Given the description of an element on the screen output the (x, y) to click on. 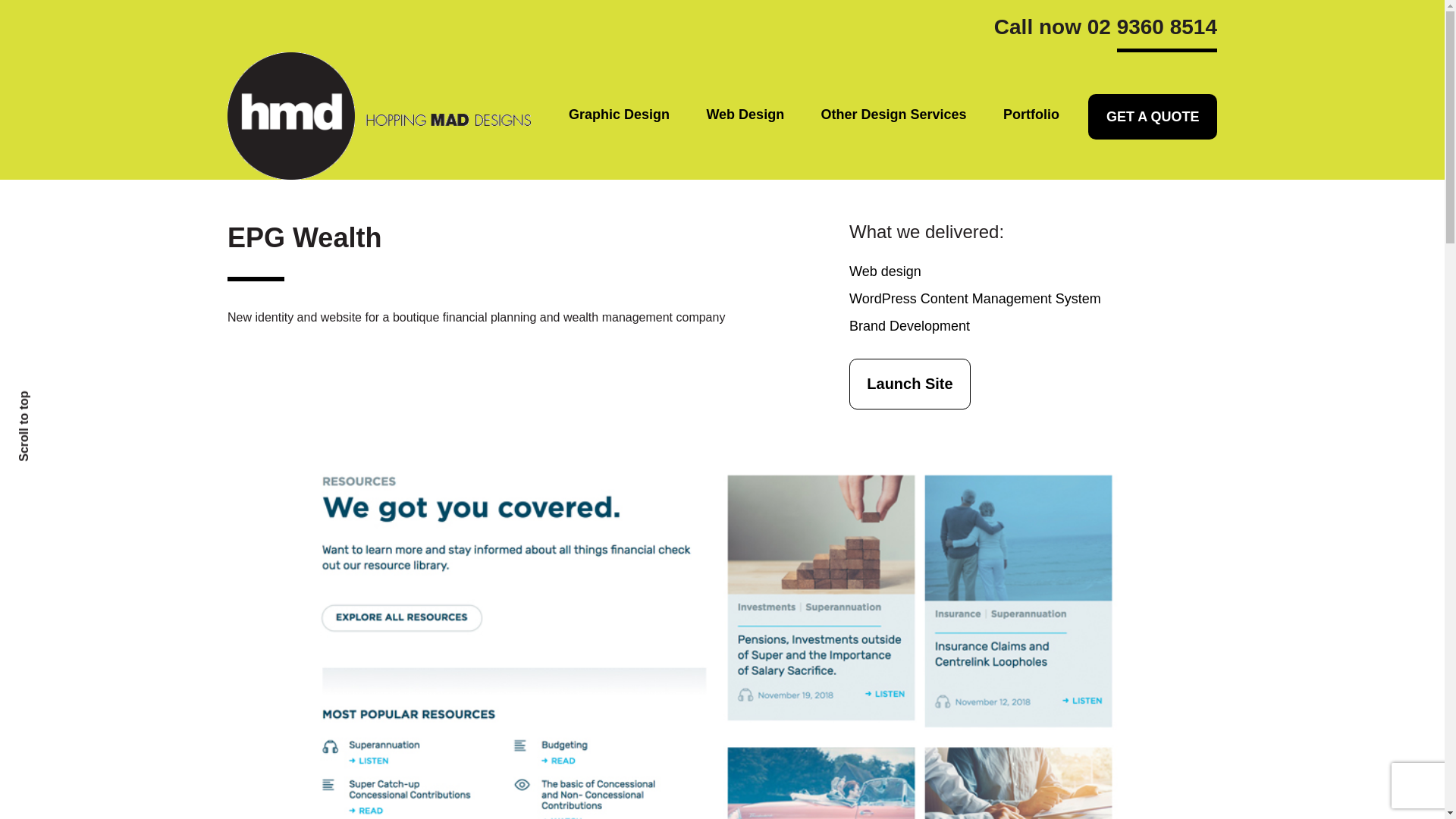
Launch Site (909, 383)
Web design (884, 271)
Graphic Design (619, 114)
Web Design (745, 114)
Submit (345, 619)
Brand Development (908, 325)
Portfolio (1031, 114)
WordPress Content Management System (974, 298)
Call now 02 9360 8514 (1105, 31)
GET A QUOTE (1151, 116)
